Given the description of an element on the screen output the (x, y) to click on. 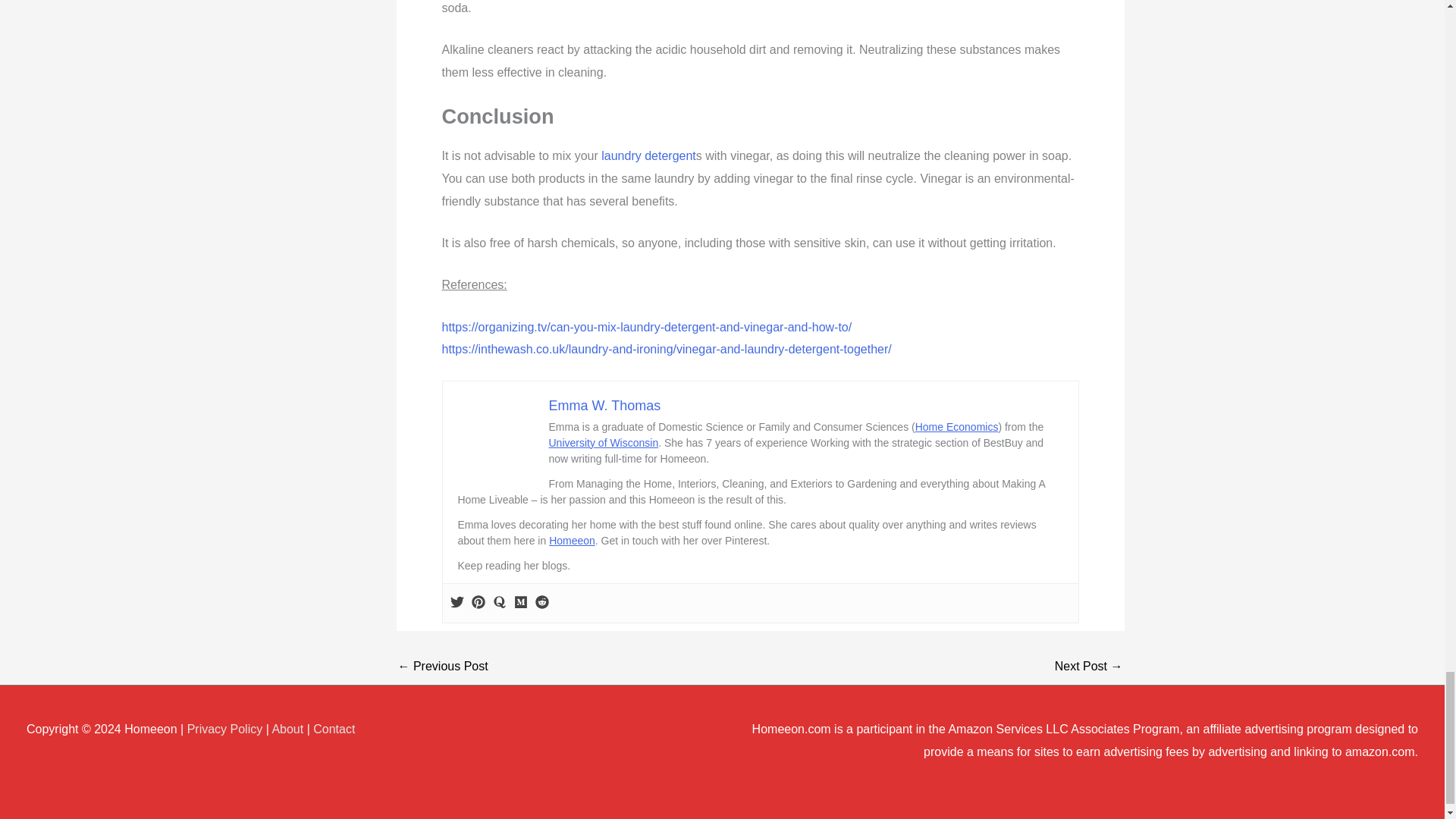
Are There Deserted Or Abandoned Mansions In Los Angeles? (1088, 666)
Emma W. Thomas (604, 405)
Contact (334, 728)
University of Wisconsin (603, 442)
What Do Pest Control Companies Use For Bed Bugs? (442, 666)
laundry detergent (648, 155)
About (286, 728)
Privacy Policy (225, 728)
Home Economics (956, 426)
Homeeon (571, 540)
